Given the description of an element on the screen output the (x, y) to click on. 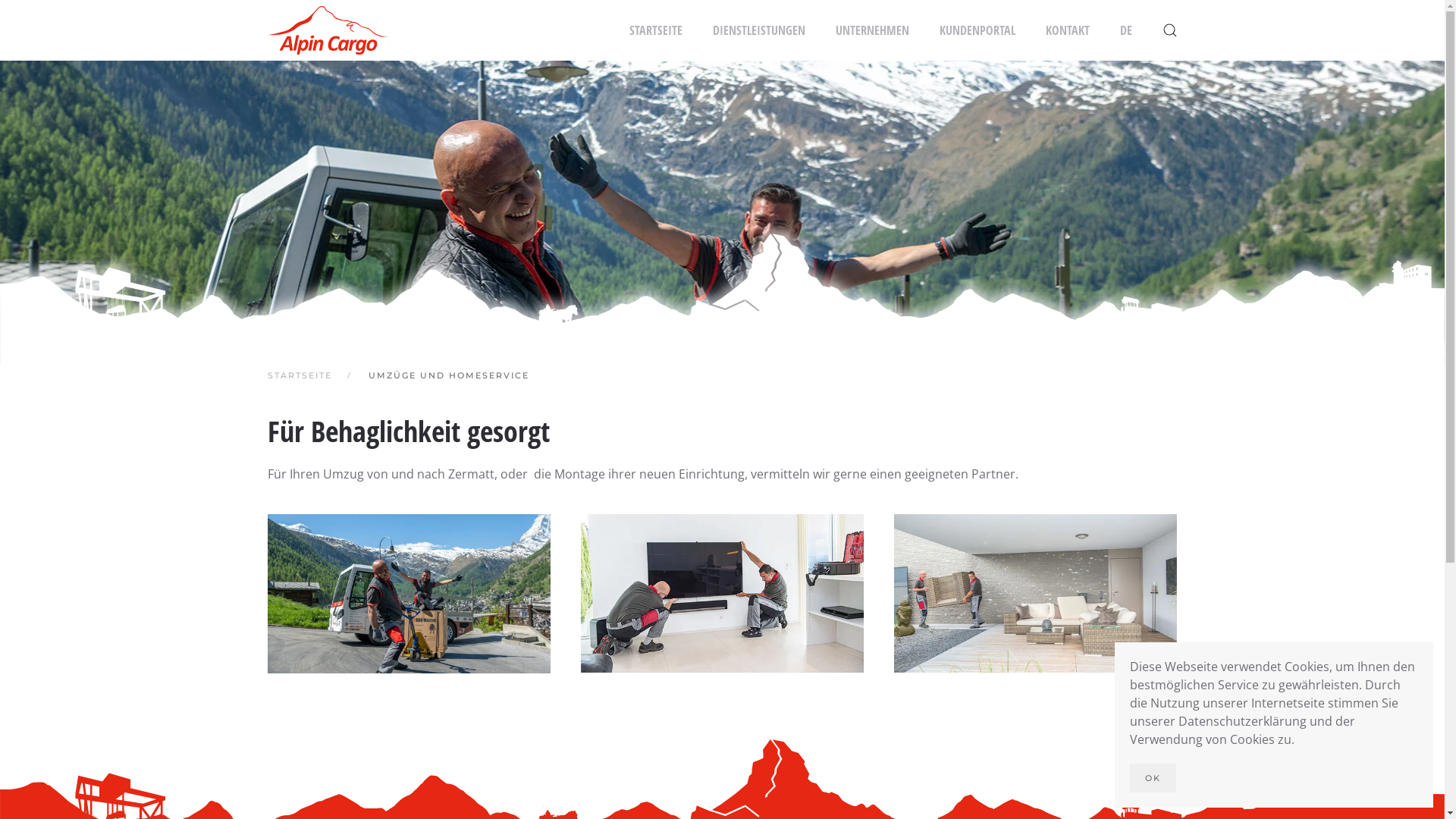
DIENSTLEISTUNGEN Element type: text (758, 30)
OK Element type: text (1152, 777)
STARTSEITE Element type: text (655, 30)
UNTERNEHMEN Element type: text (872, 30)
STARTSEITE Element type: text (298, 375)
DE Element type: text (1125, 30)
KONTAKT Element type: text (1066, 30)
KUNDENPORTAL Element type: text (976, 30)
